Given the description of an element on the screen output the (x, y) to click on. 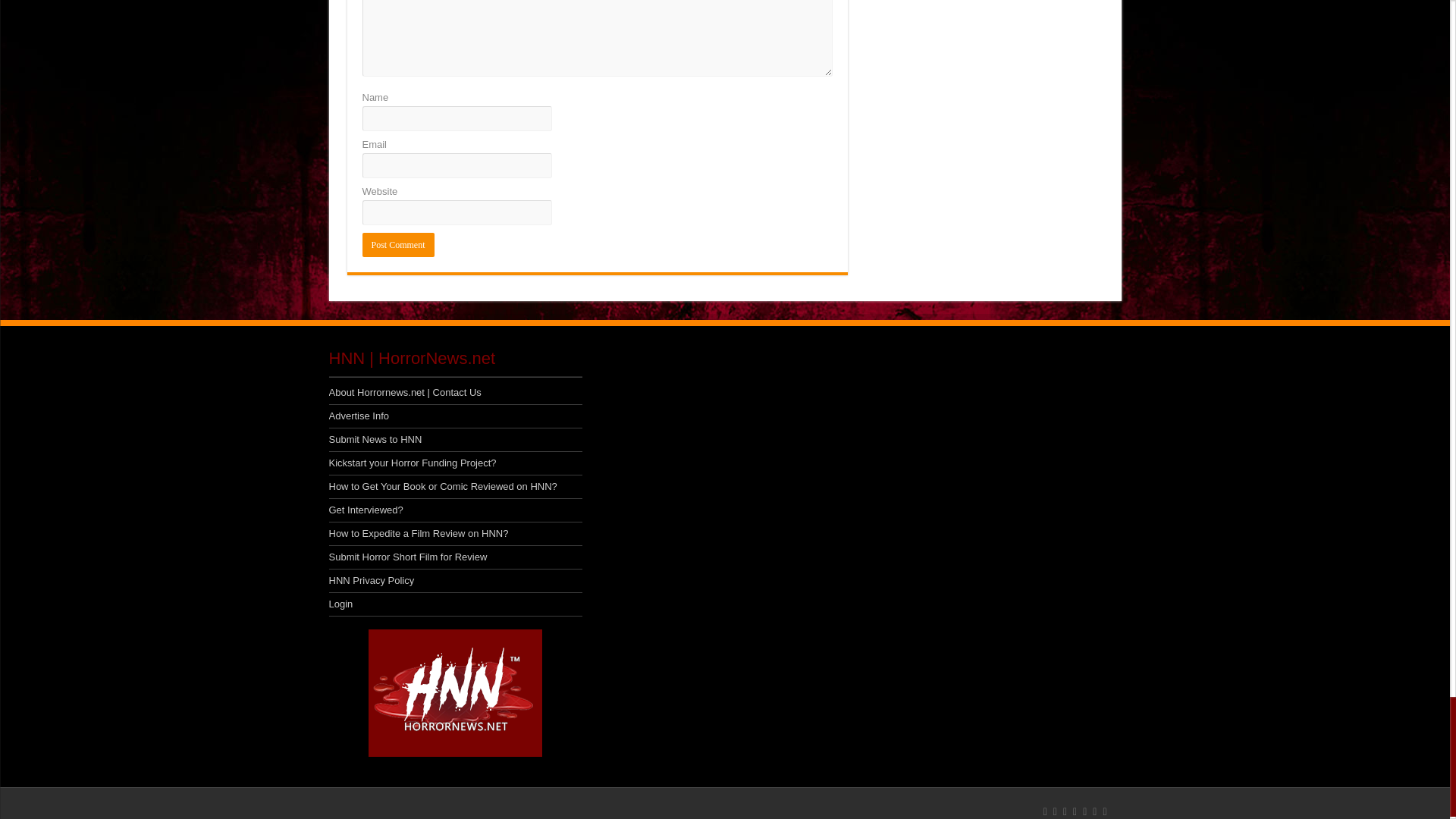
Post Comment (397, 244)
